Given the description of an element on the screen output the (x, y) to click on. 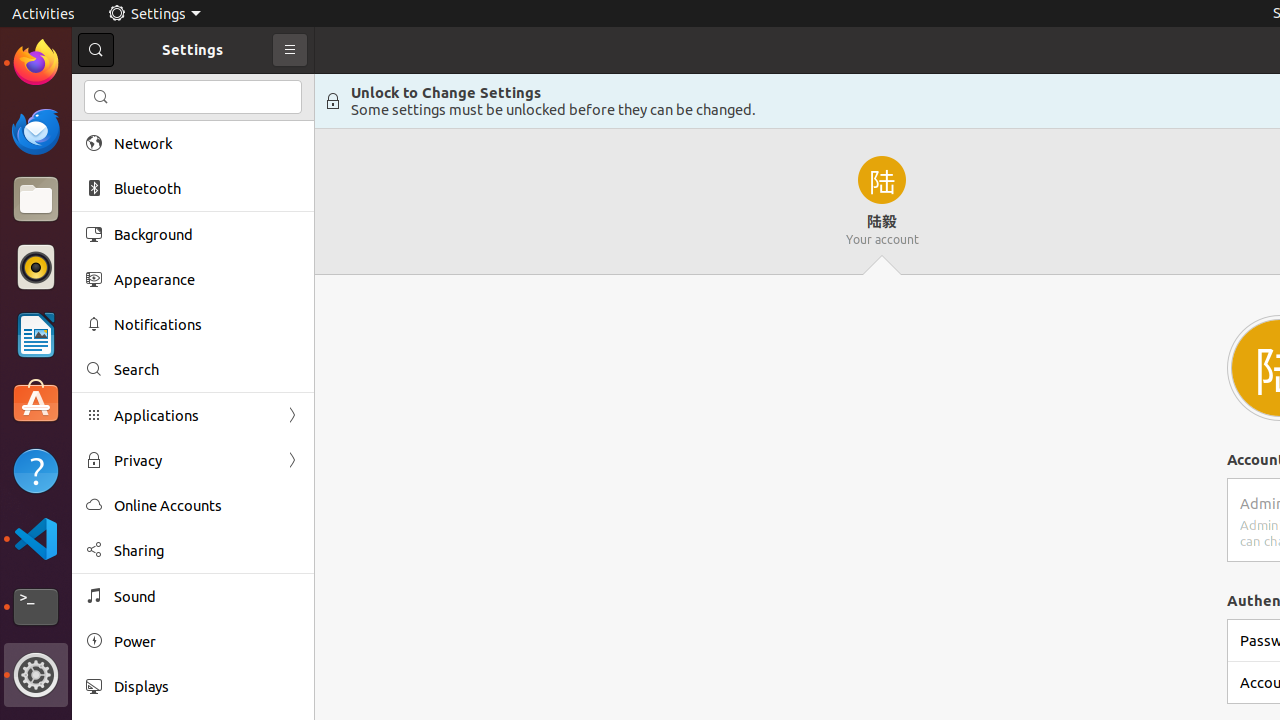
陆毅 Element type: radio-button (882, 201)
li.txt Element type: label (259, 89)
IsaHelpMain.desktop Element type: label (133, 300)
